Given the description of an element on the screen output the (x, y) to click on. 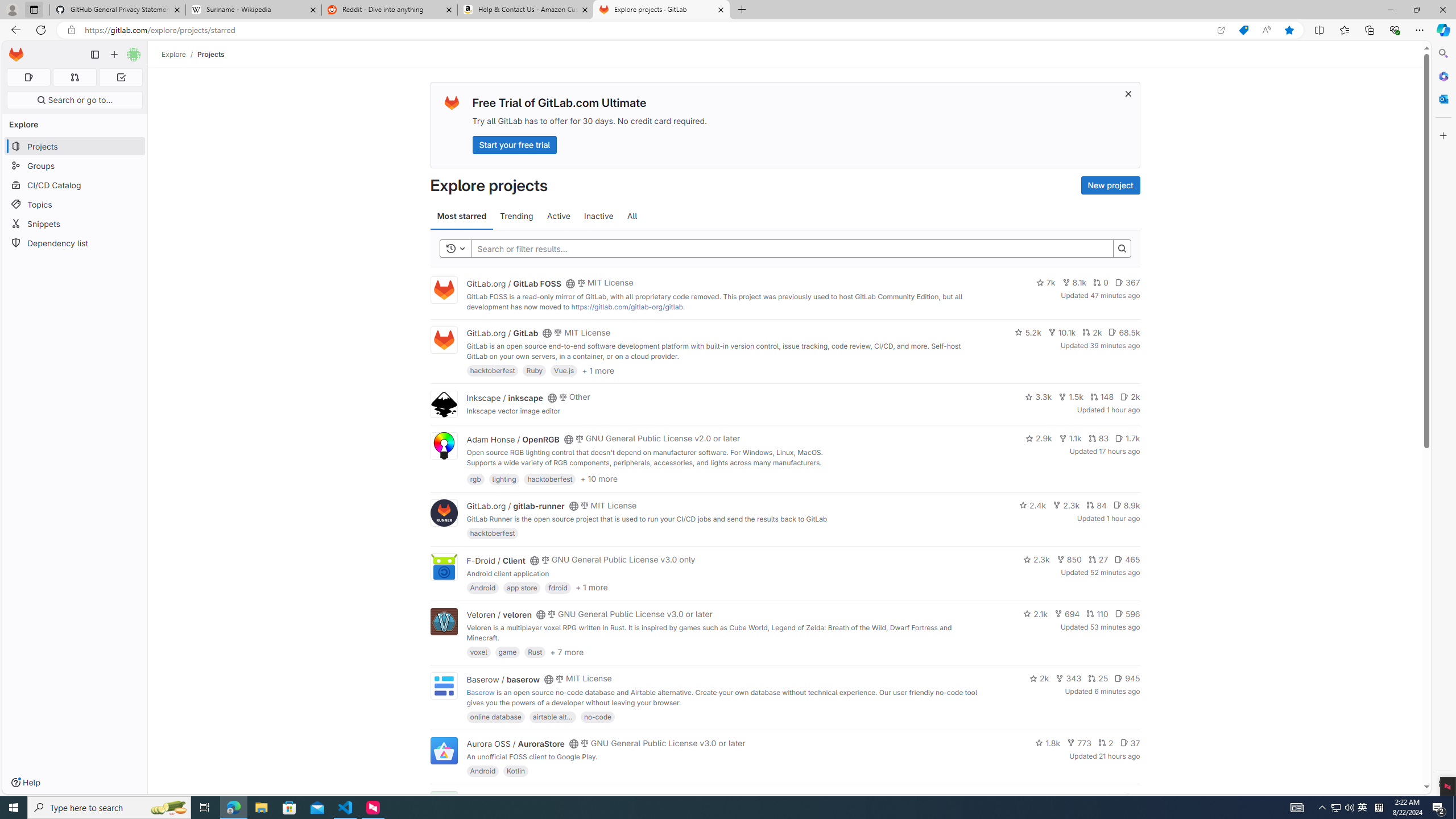
5.2k (1027, 331)
Start your free trial (514, 144)
Groups (74, 165)
Topics (74, 203)
Snippets (74, 223)
fdroid (558, 587)
6 (1132, 797)
online database (495, 715)
New project (1110, 185)
https://gitlab.com/gitlab-org/gitlab (626, 306)
25 (1097, 678)
Class: s16 (568, 798)
